Given the description of an element on the screen output the (x, y) to click on. 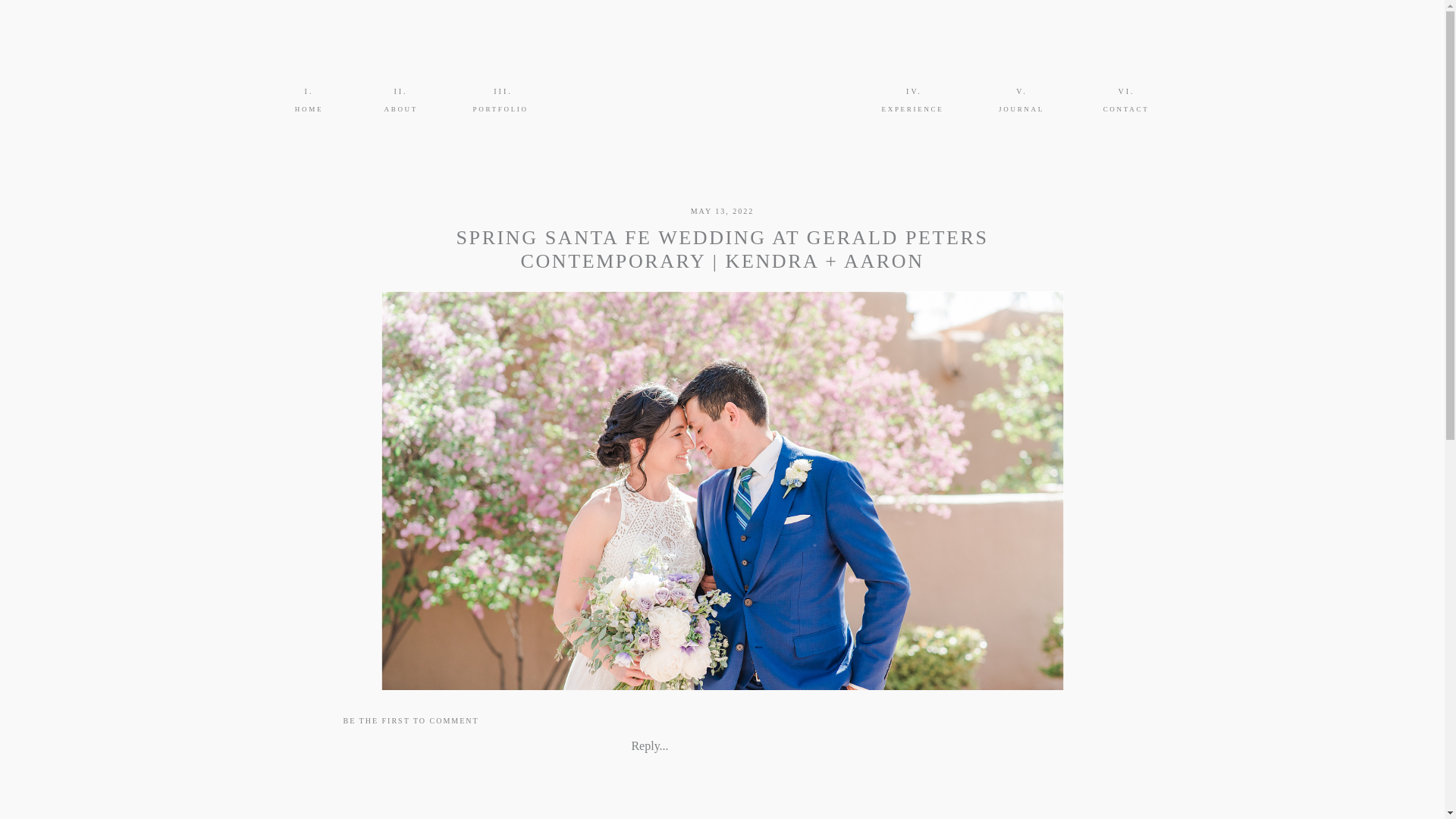
HOME (308, 110)
JOURNAL (1021, 110)
PORTFOLIO (500, 110)
BE THE FIRST TO COMMENT (410, 720)
EXPERIENCE (909, 110)
CONTACT (1126, 110)
ABOUT (400, 110)
